Given the description of an element on the screen output the (x, y) to click on. 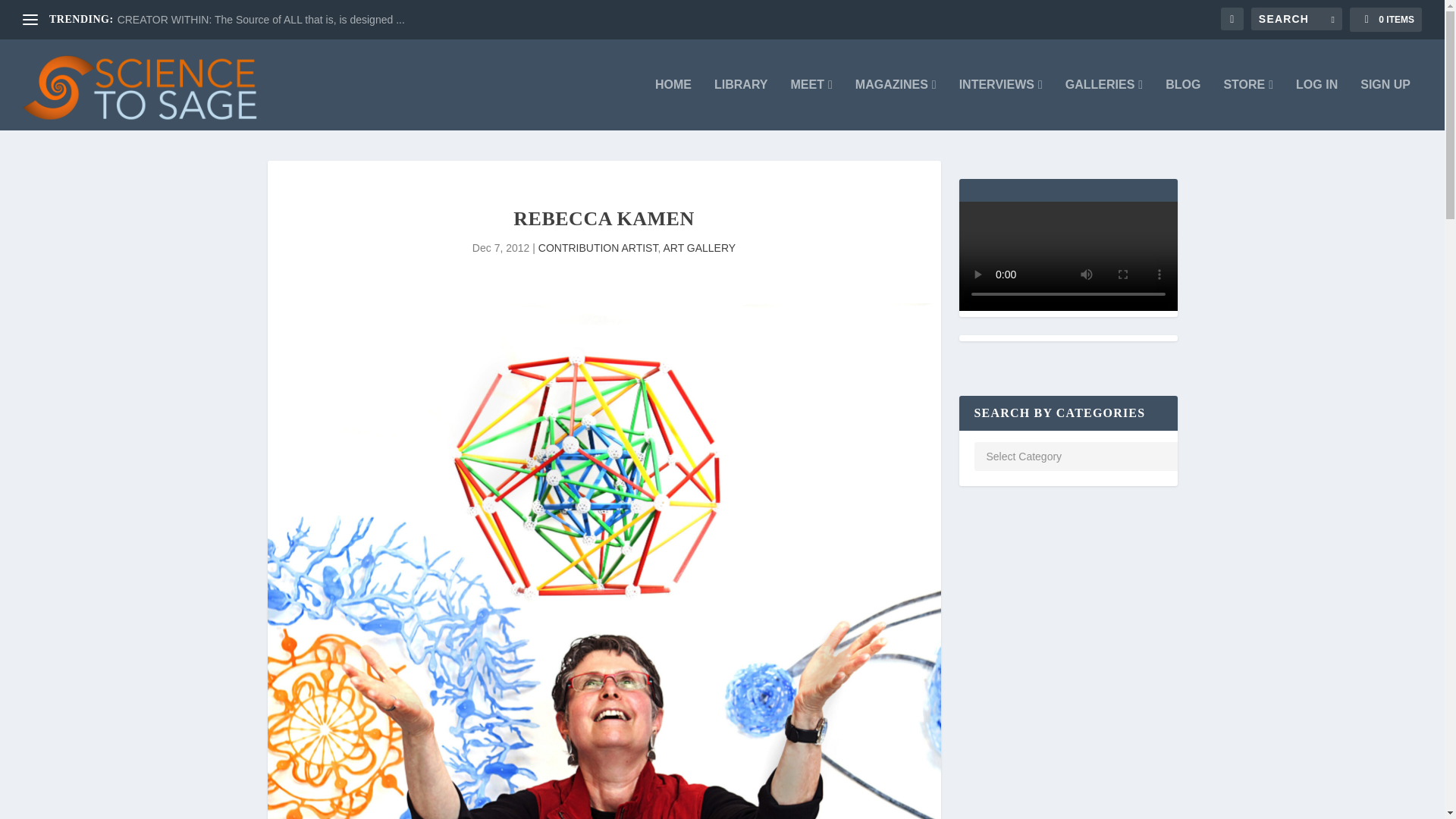
CREATOR WITHIN: The Source of ALL that is, is designed ... (260, 19)
GALLERIES (1103, 104)
Search for: (1296, 18)
0 Items in Cart (1385, 19)
LIBRARY (741, 104)
STORE (1247, 104)
MAGAZINES (896, 104)
0 ITEMS (1385, 19)
INTERVIEWS (1000, 104)
